Given the description of an element on the screen output the (x, y) to click on. 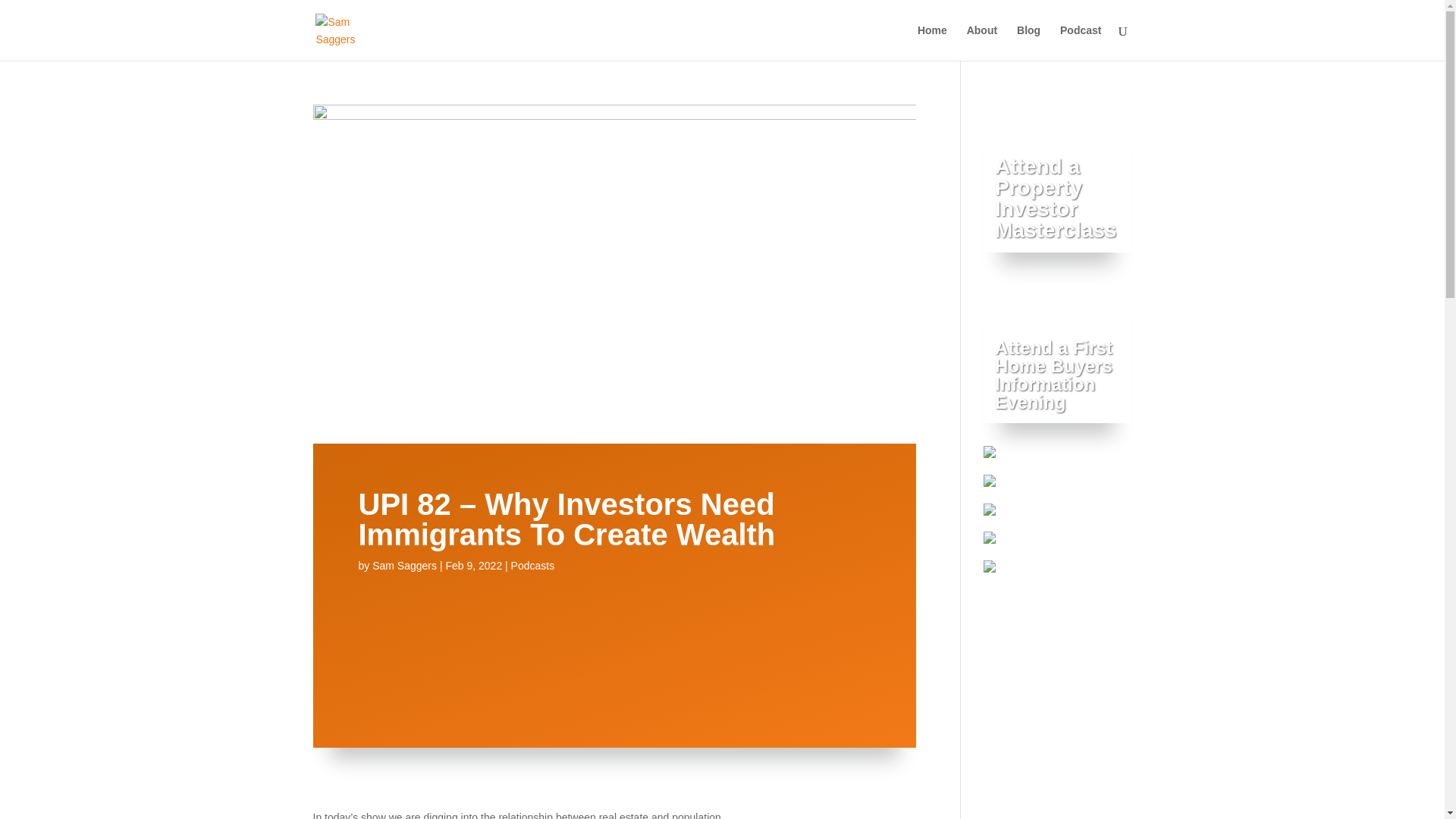
Attend a First Home Buyers Information Evening (1053, 374)
Why Investors Need Immigrants To Create Wealth (613, 639)
Sam Saggers (404, 565)
Home (1055, 197)
About (932, 42)
Blog (981, 42)
Posts by Sam Saggers (1028, 42)
Podcasts (404, 565)
Podcast (532, 565)
